Given the description of an element on the screen output the (x, y) to click on. 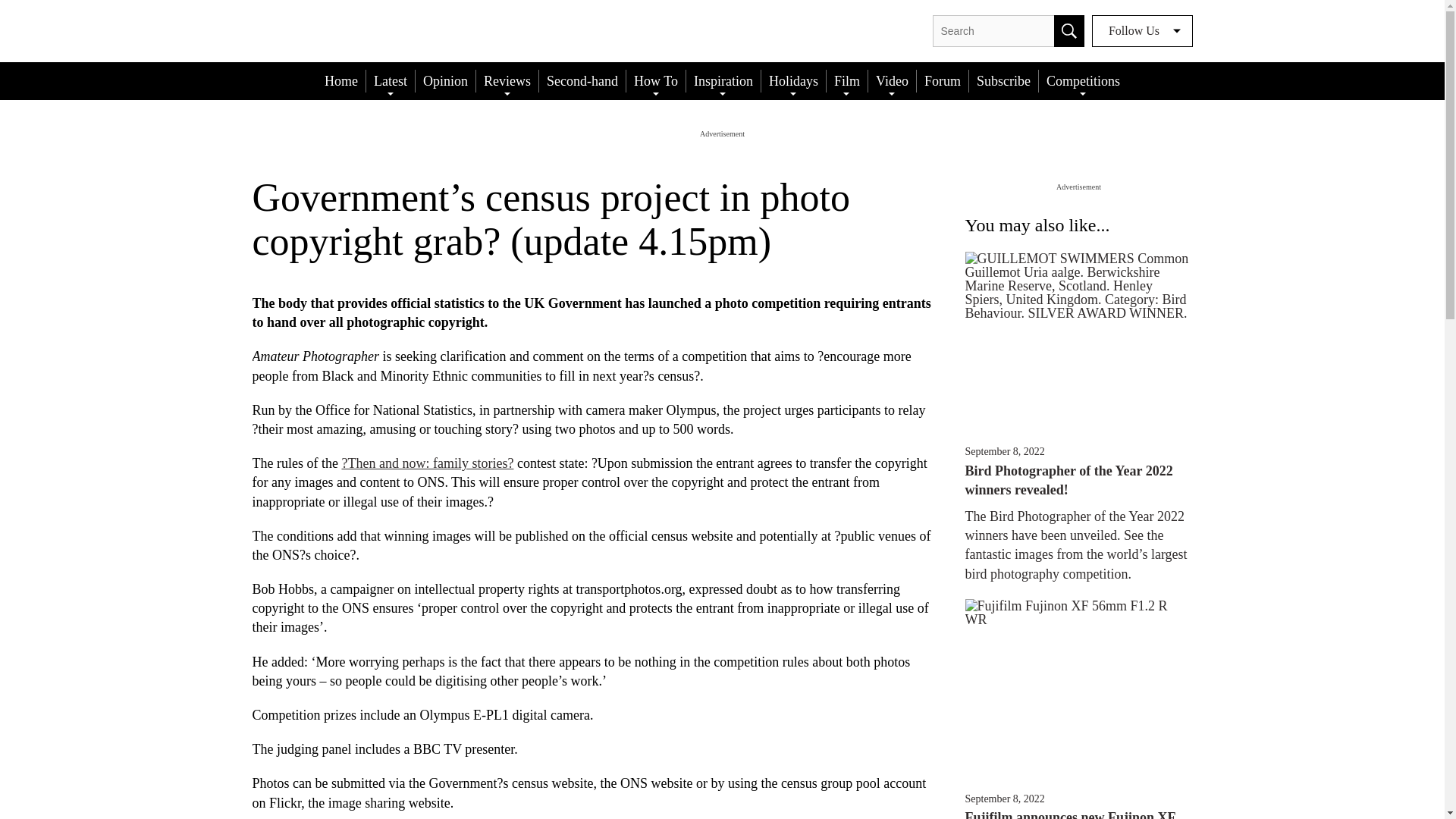
Search (1069, 30)
?Then and now: family stories? (426, 462)
Opinion (445, 80)
Follow Us (1142, 30)
Second-hand (582, 80)
Reviews (507, 80)
Home (341, 80)
Inspiration (722, 80)
Latest (390, 80)
How To (655, 80)
